Given the description of an element on the screen output the (x, y) to click on. 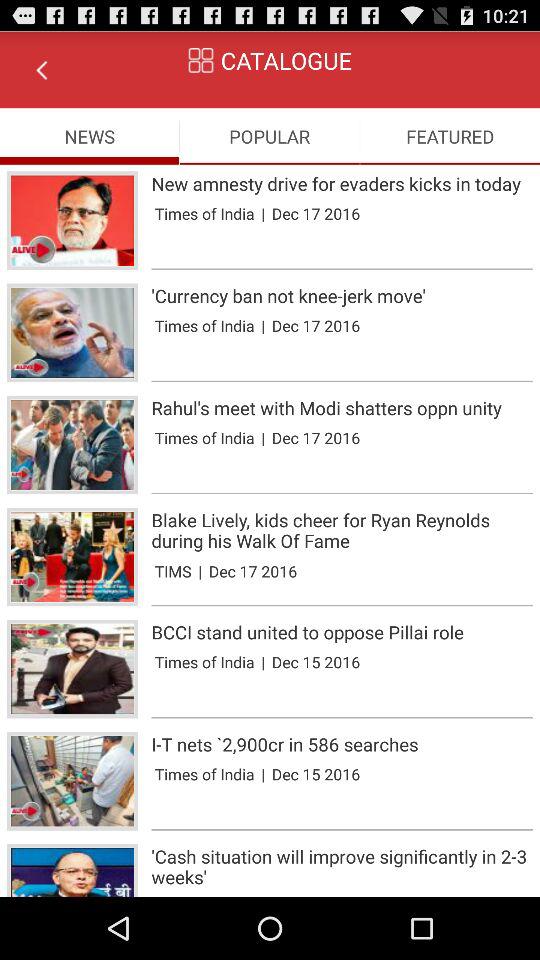
open item below times of india app (342, 829)
